Given the description of an element on the screen output the (x, y) to click on. 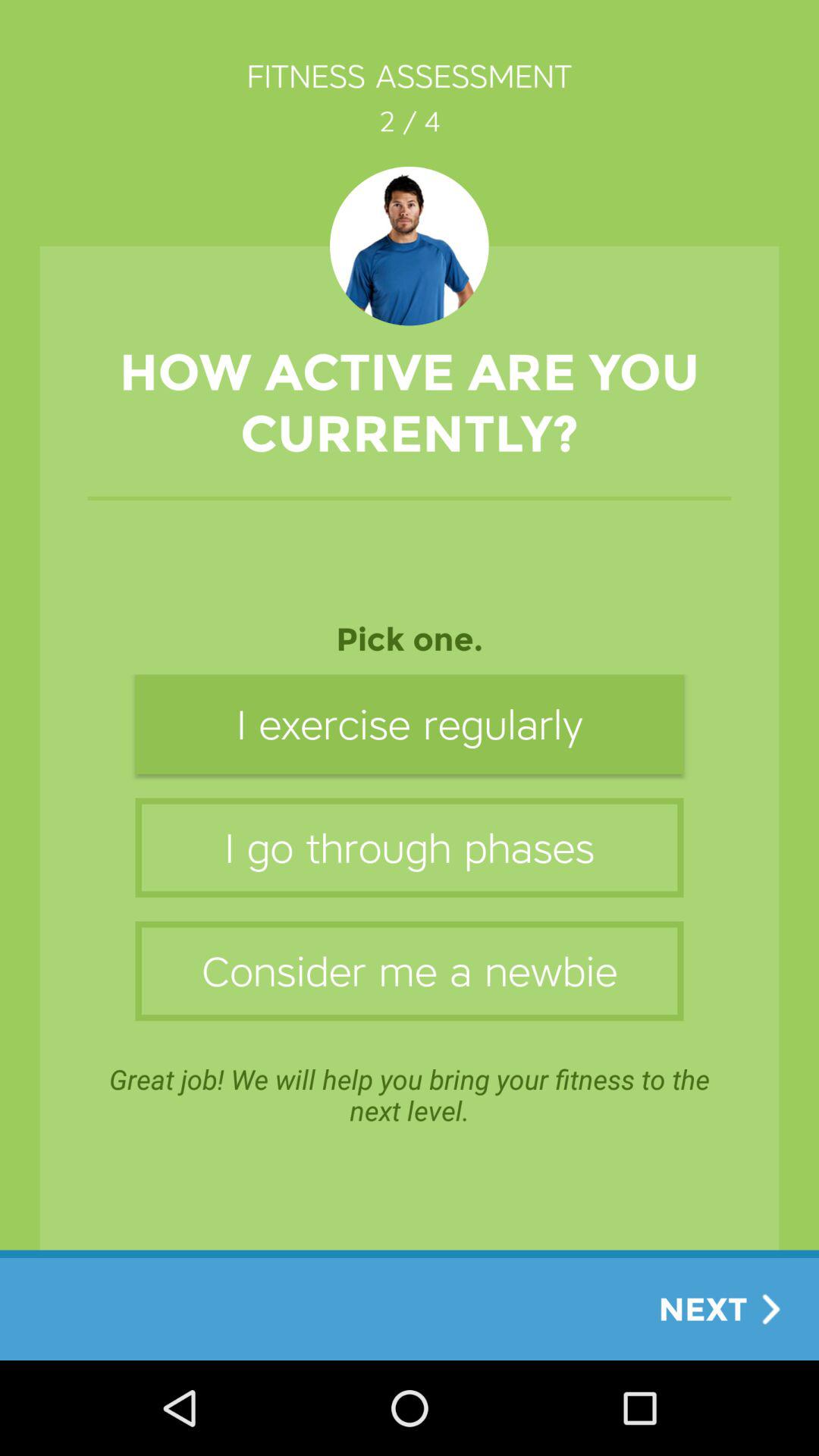
turn on the item above consider me a item (409, 847)
